Given the description of an element on the screen output the (x, y) to click on. 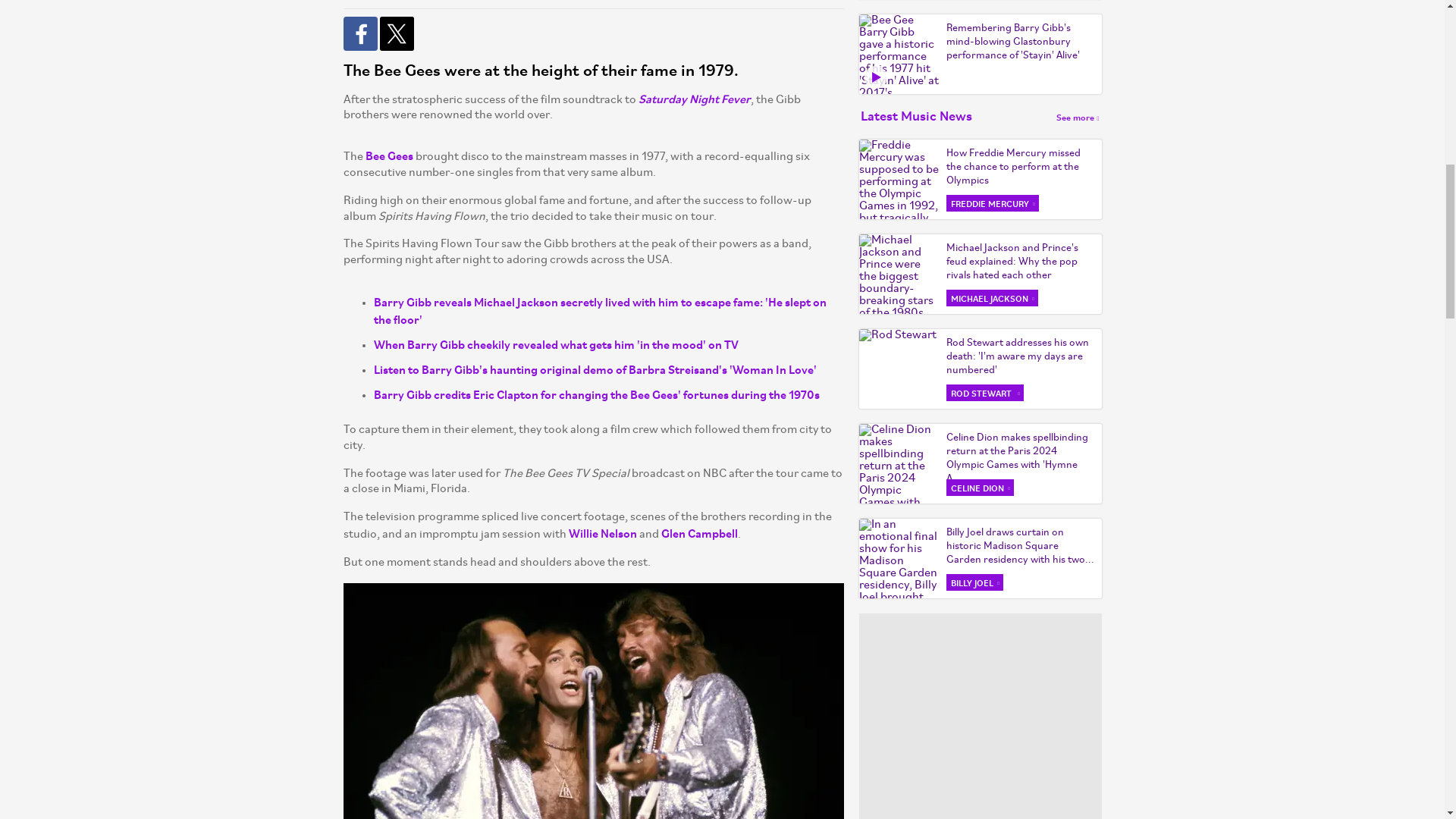
Bee Gees (389, 154)
Saturday Night Fever (695, 98)
